Given the description of an element on the screen output the (x, y) to click on. 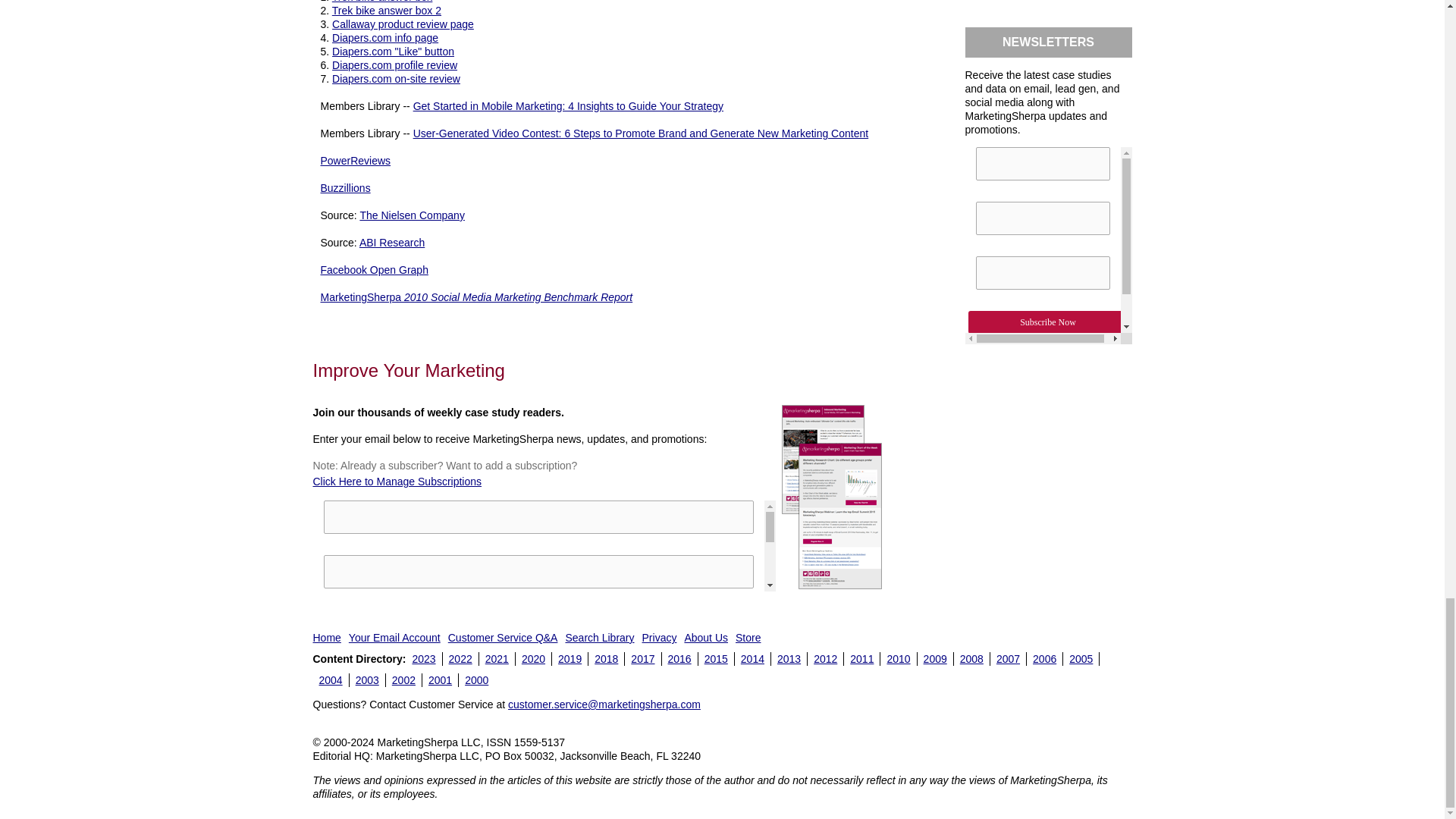
MarketingSherpa 2010 Social Media Marketing Benchmark Report (475, 297)
Trek bike answer box 2 (386, 10)
Diapers.com "Like" button (392, 51)
Diapers.com profile review (394, 64)
Trek bike answer box (381, 1)
Callaway product review page (402, 24)
Facebook Open Graph (374, 269)
Buzzillions (344, 187)
Diapers.com info page (384, 37)
PowerReviews (355, 160)
ABI Research (392, 242)
The Nielsen Company (411, 215)
Diapers.com on-site review (395, 78)
